Given the description of an element on the screen output the (x, y) to click on. 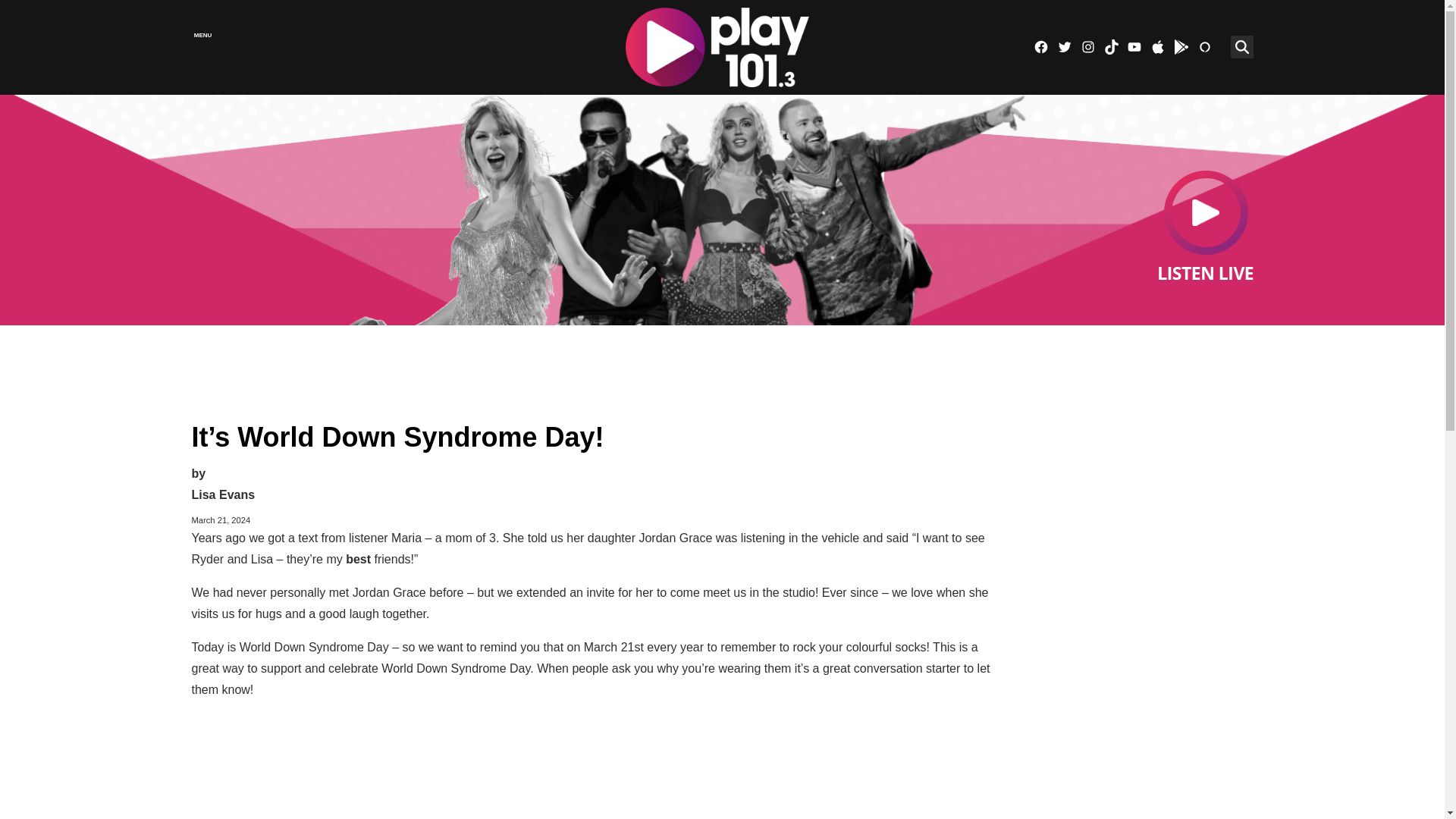
Google Play (1181, 46)
Facebook (1040, 46)
Apple Store (1158, 46)
Instagram (1088, 46)
YouTube (1133, 46)
Ask Alexa (1203, 46)
3rd party ad content (721, 366)
Twitter (1064, 46)
3rd party ad content (1135, 790)
3rd party ad content (1135, 506)
